Given the description of an element on the screen output the (x, y) to click on. 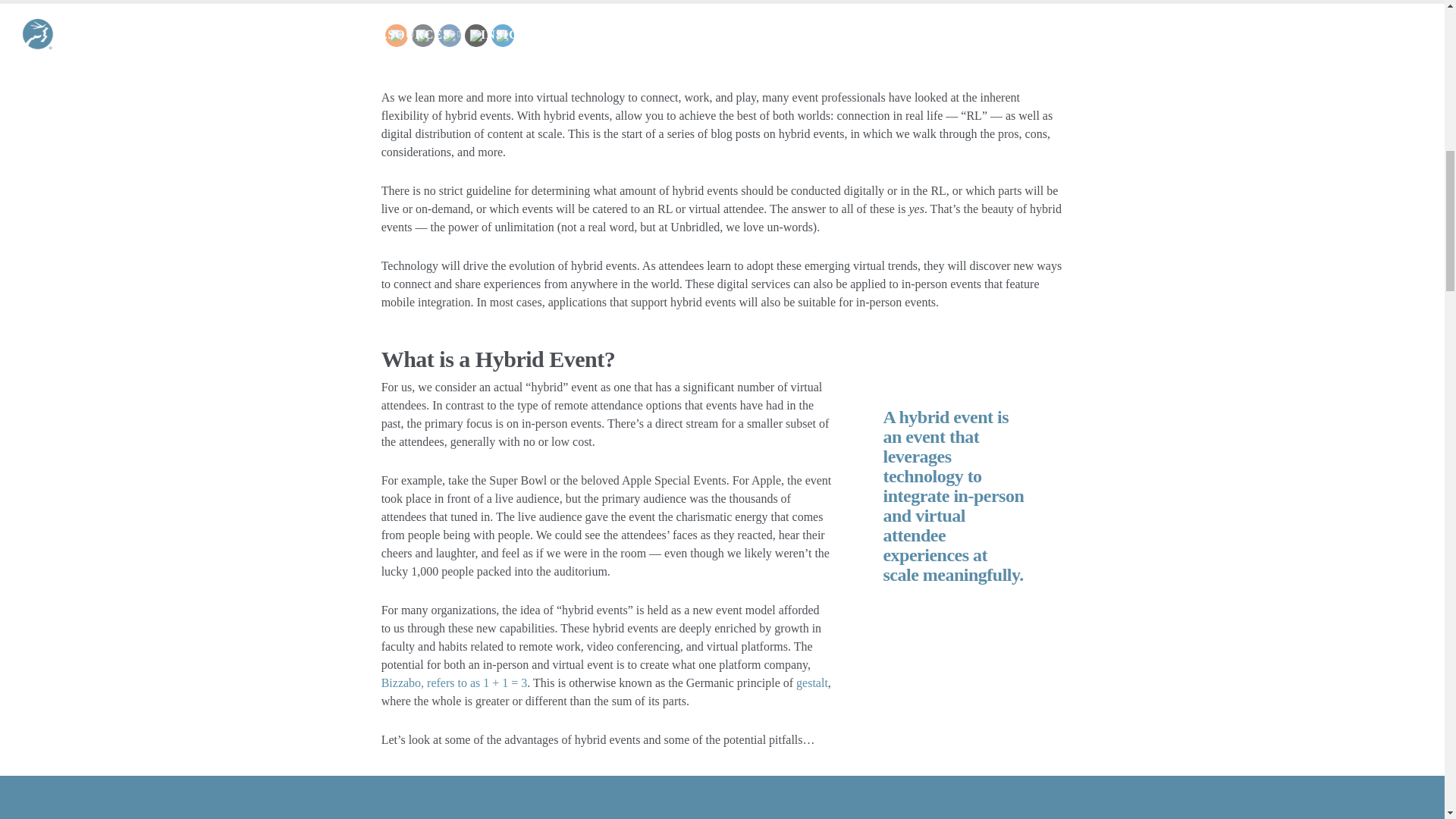
Facebook (448, 35)
LinkedIn (502, 35)
Twitter (474, 35)
RSS (396, 35)
Follow by Email (422, 35)
